Given the description of an element on the screen output the (x, y) to click on. 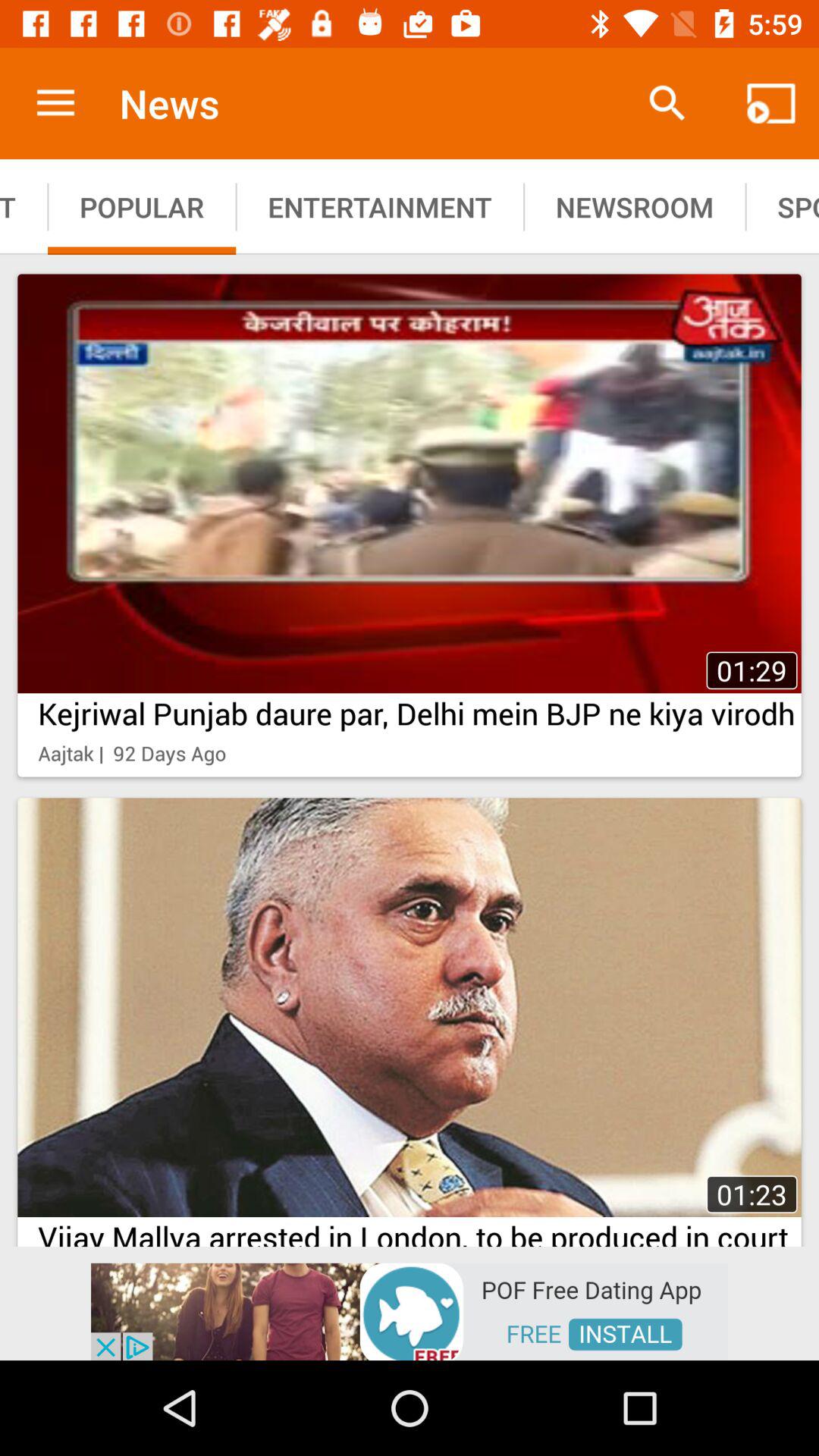
click on the second image (409, 1018)
select the option right to newsroom (782, 206)
select the newsroom which is next to entertainment (634, 206)
click on the first video (409, 525)
click on the first video (409, 484)
